Given the description of an element on the screen output the (x, y) to click on. 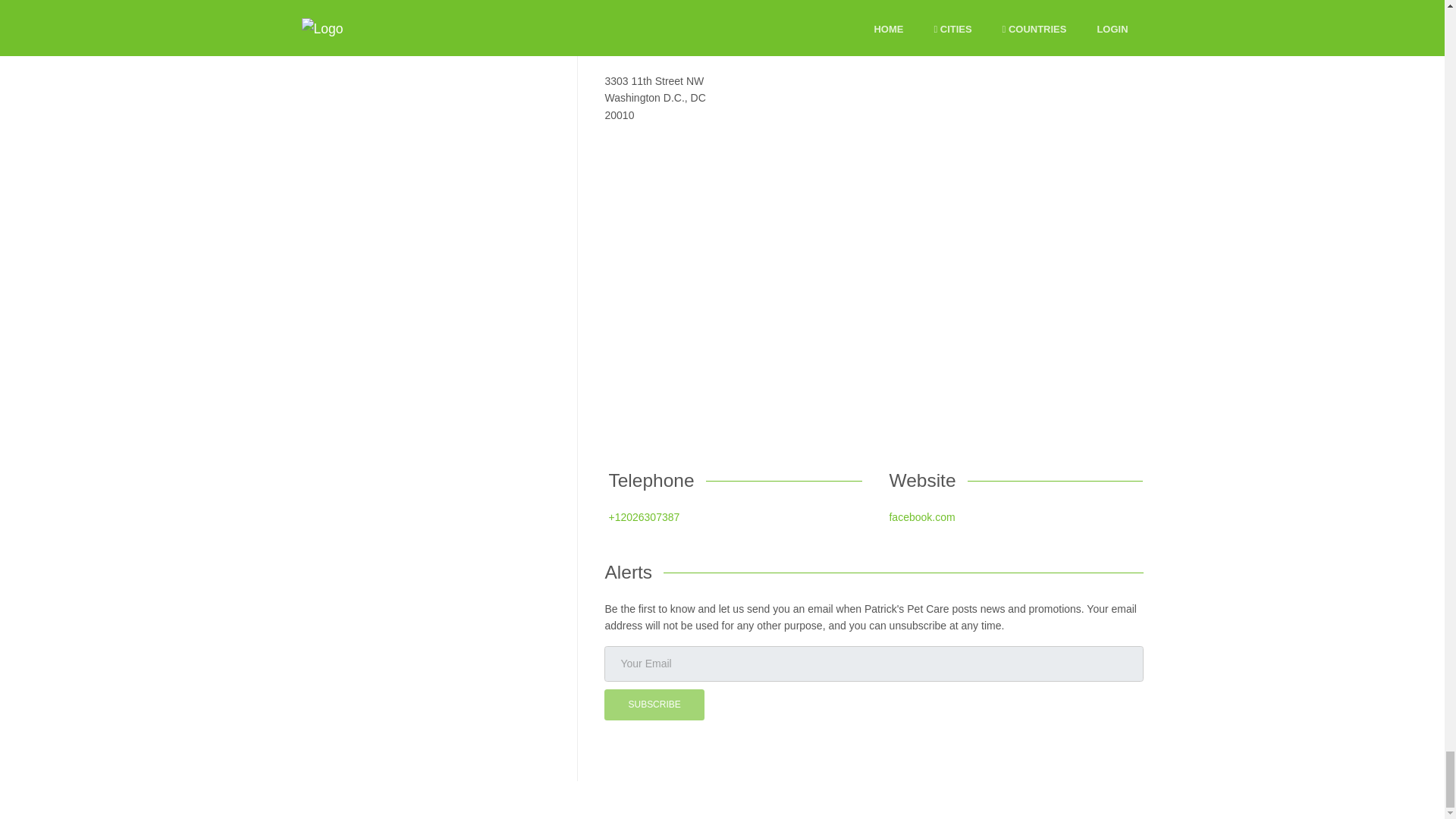
SUBSCRIBE (653, 704)
facebook.com (921, 517)
